Given the description of an element on the screen output the (x, y) to click on. 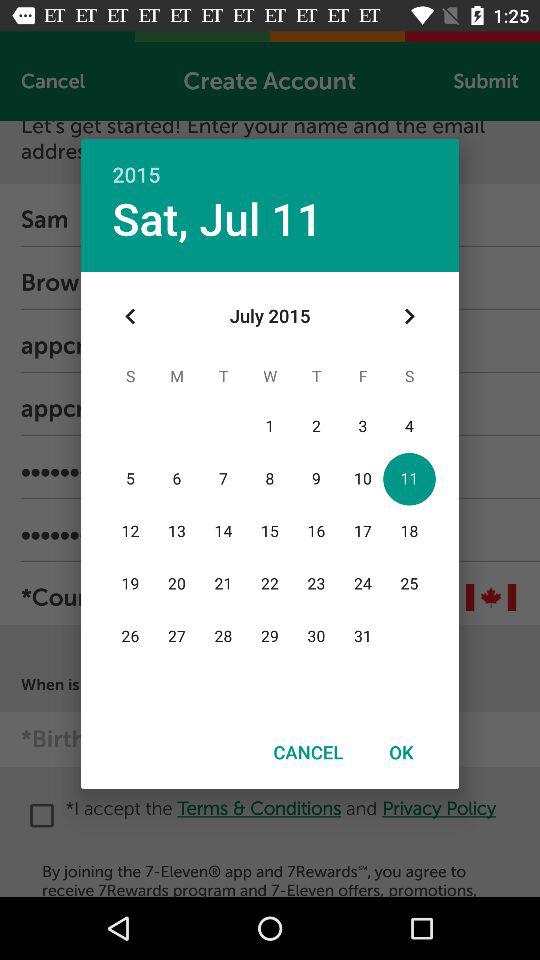
open 2015 icon (269, 163)
